Given the description of an element on the screen output the (x, y) to click on. 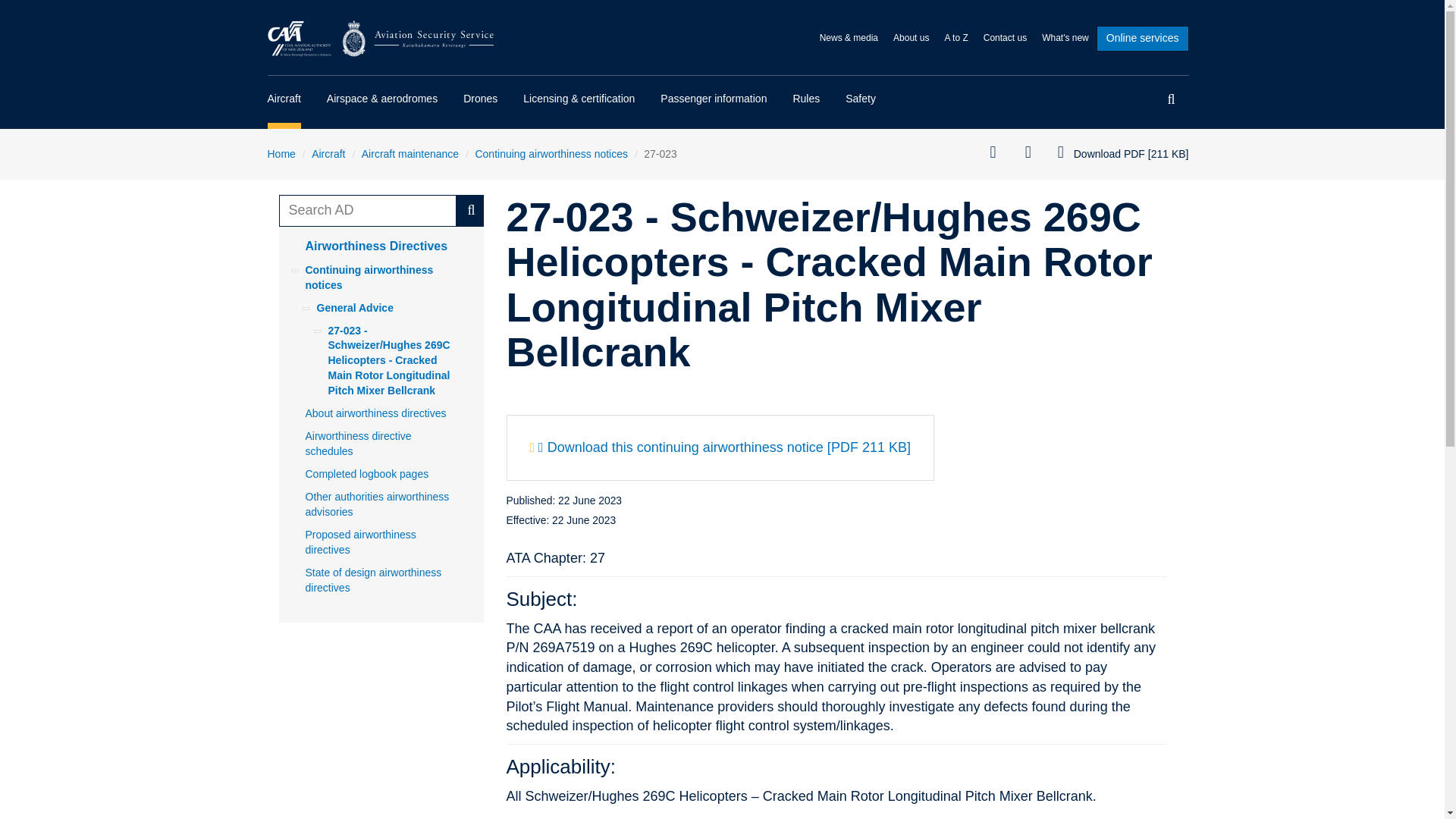
Online services (1142, 38)
Go to Home Page (380, 37)
Print (998, 153)
